Given the description of an element on the screen output the (x, y) to click on. 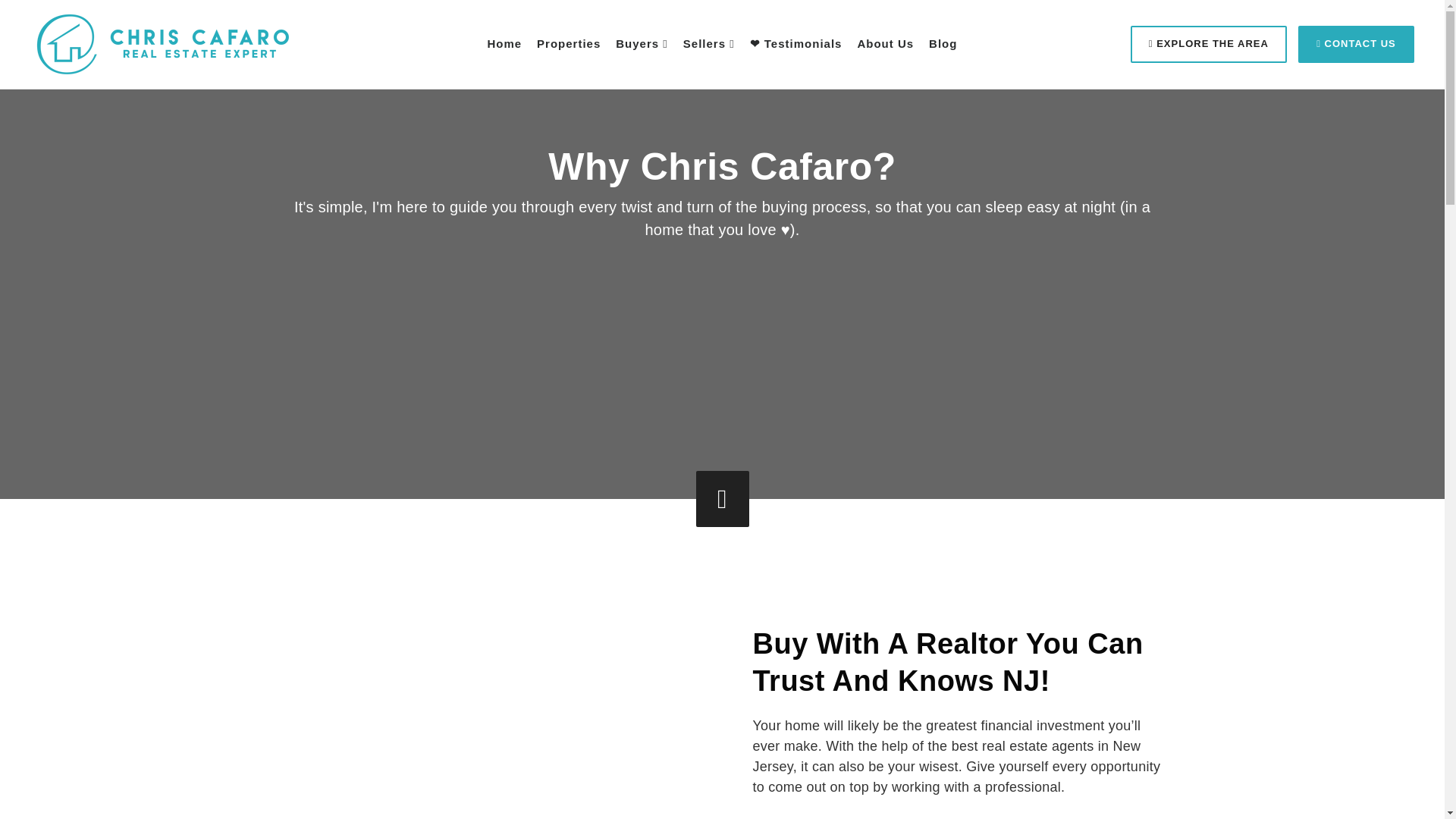
Buyers (641, 43)
Sellers (708, 43)
CONTACT US (1355, 43)
Testimonials (796, 43)
Sellers Links (708, 43)
EXPLORE THE AREA (1209, 43)
Home (503, 43)
About Us (885, 43)
Buyers Links (641, 43)
Properties (568, 43)
